Given the description of an element on the screen output the (x, y) to click on. 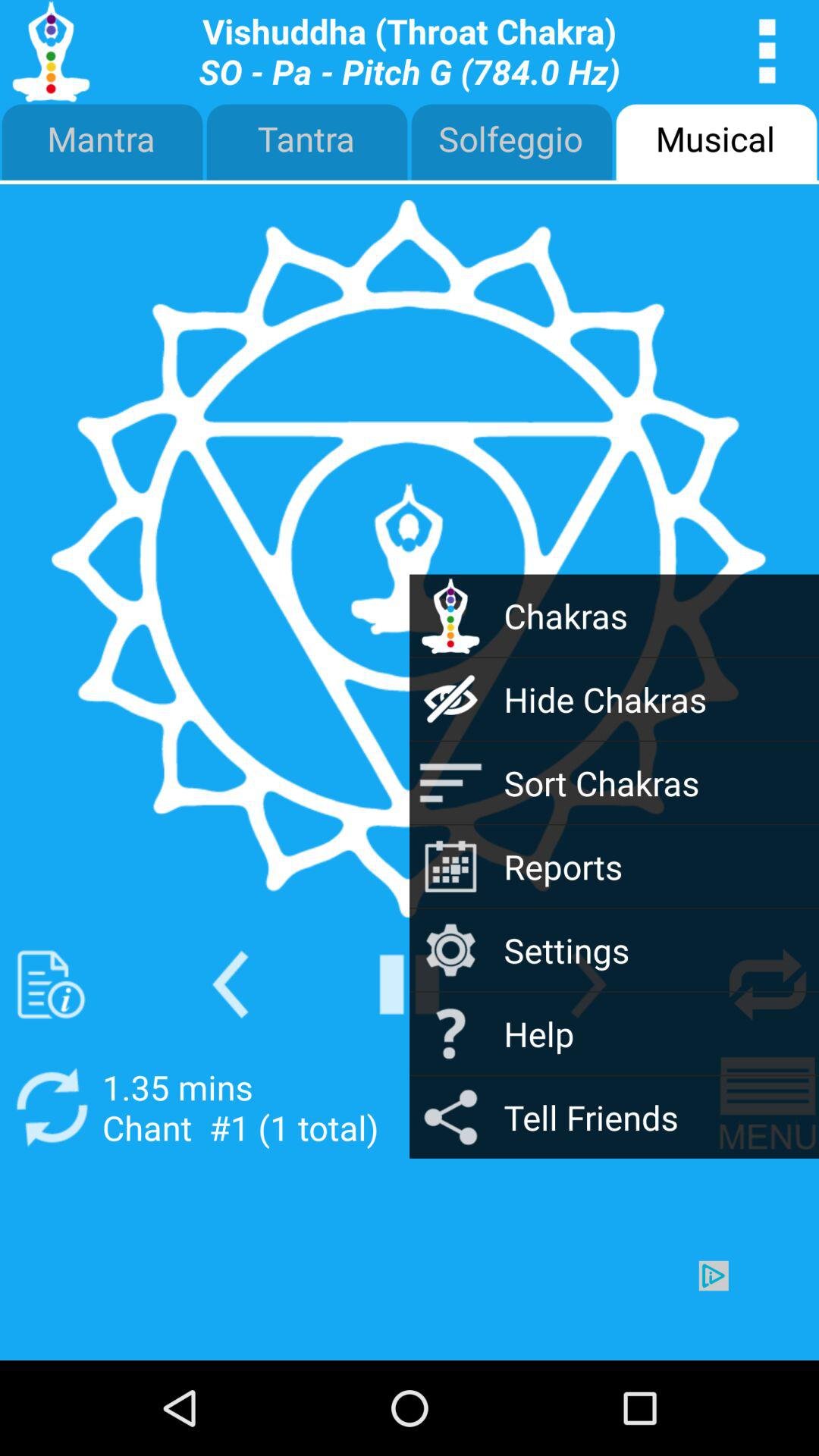
settings page (767, 51)
